Given the description of an element on the screen output the (x, y) to click on. 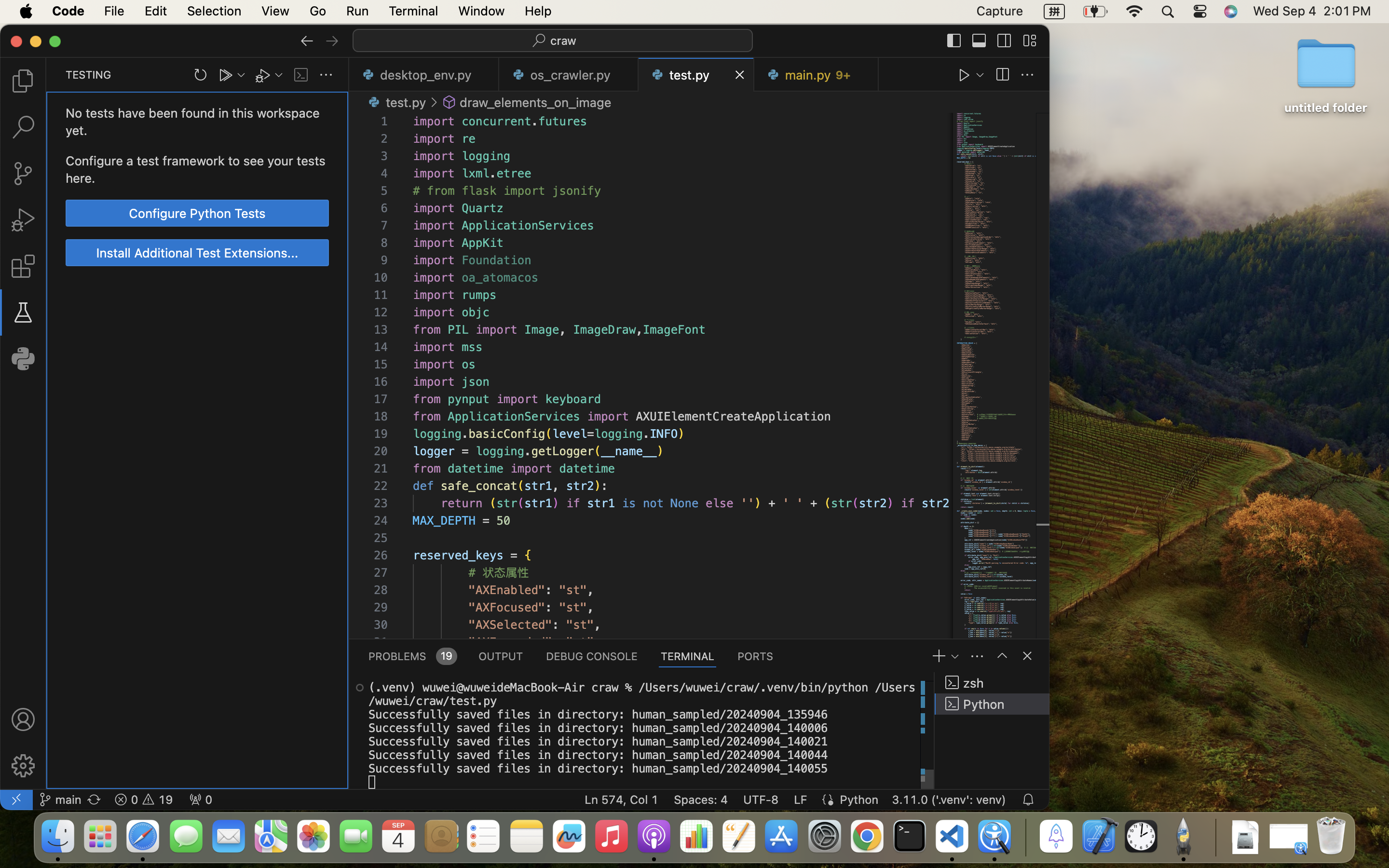
 Element type: AXButton (1028, 40)
 Element type: AXCheckBox (1001, 655)
 Element type: AXGroup (23, 719)
 Element type: AXButton (1001, 74)
 0 Element type: AXButton (200, 799)
